Given the description of an element on the screen output the (x, y) to click on. 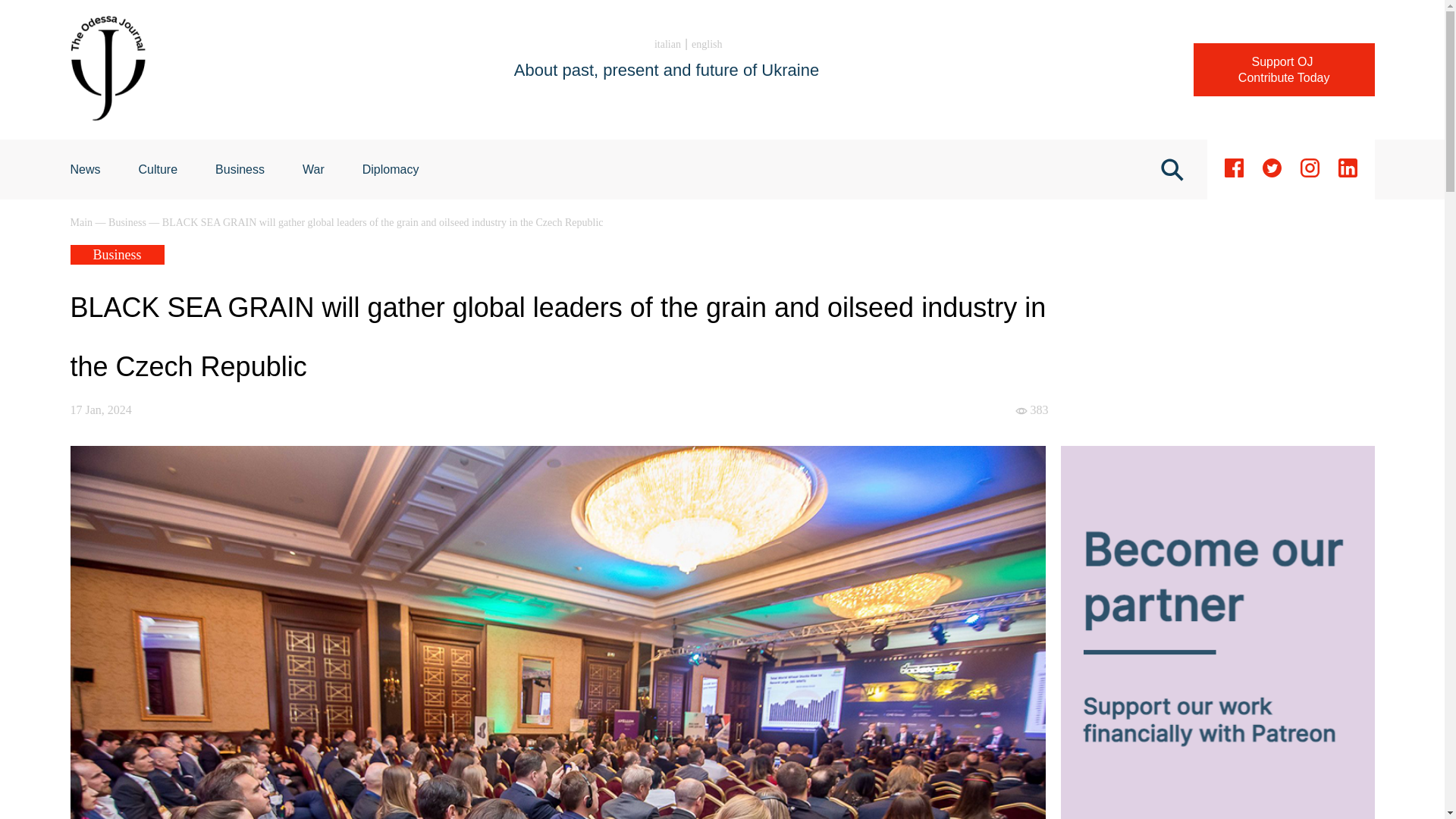
Business (1283, 69)
War (239, 169)
Main  (313, 169)
italian (81, 222)
Business (667, 43)
War (127, 222)
Culture (313, 169)
Culture (157, 169)
News (157, 169)
Support (84, 169)
News (1283, 69)
Diplomacy (84, 169)
english (390, 169)
Business (706, 43)
